Given the description of an element on the screen output the (x, y) to click on. 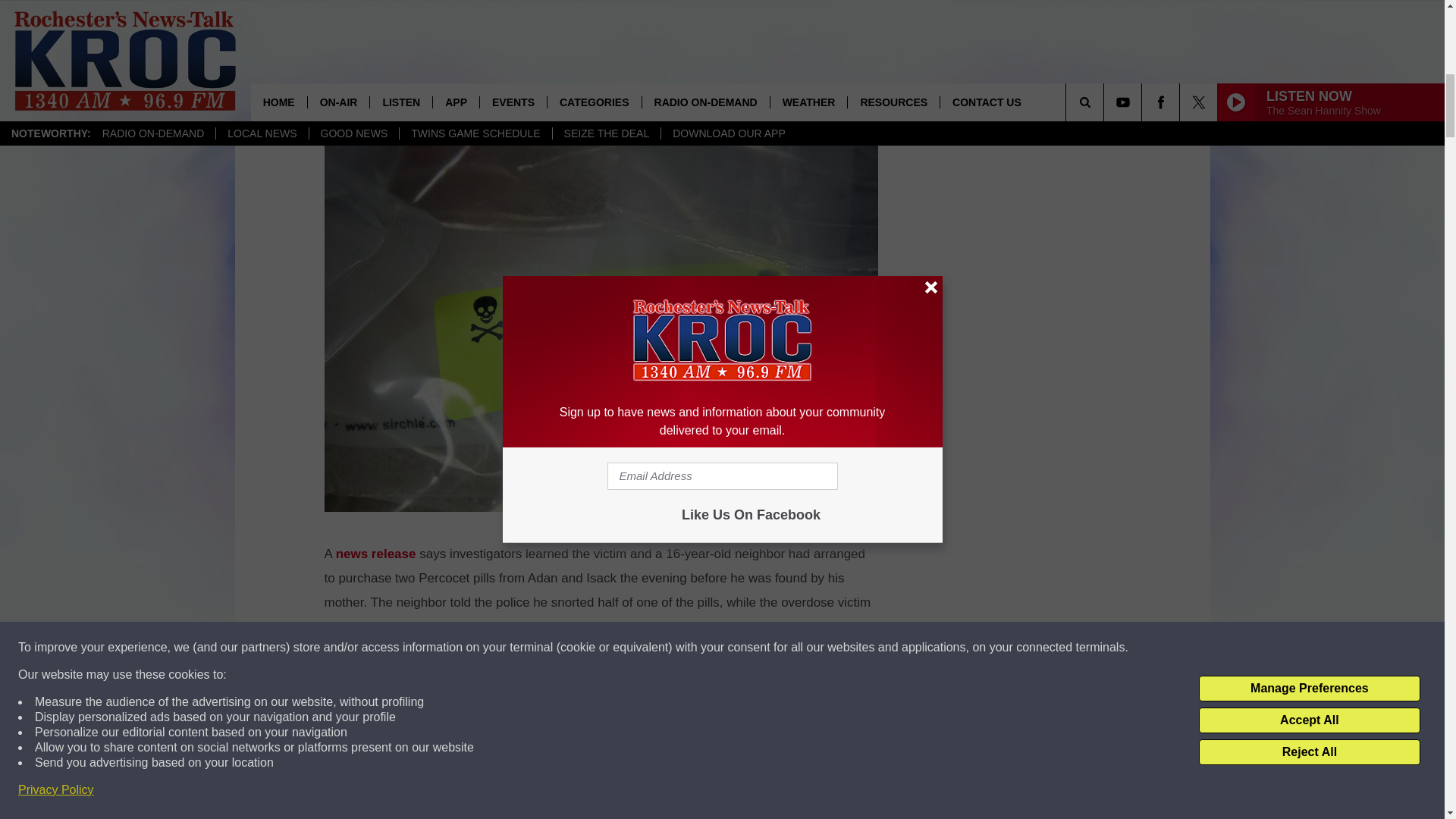
Email Address (600, 709)
